Given the description of an element on the screen output the (x, y) to click on. 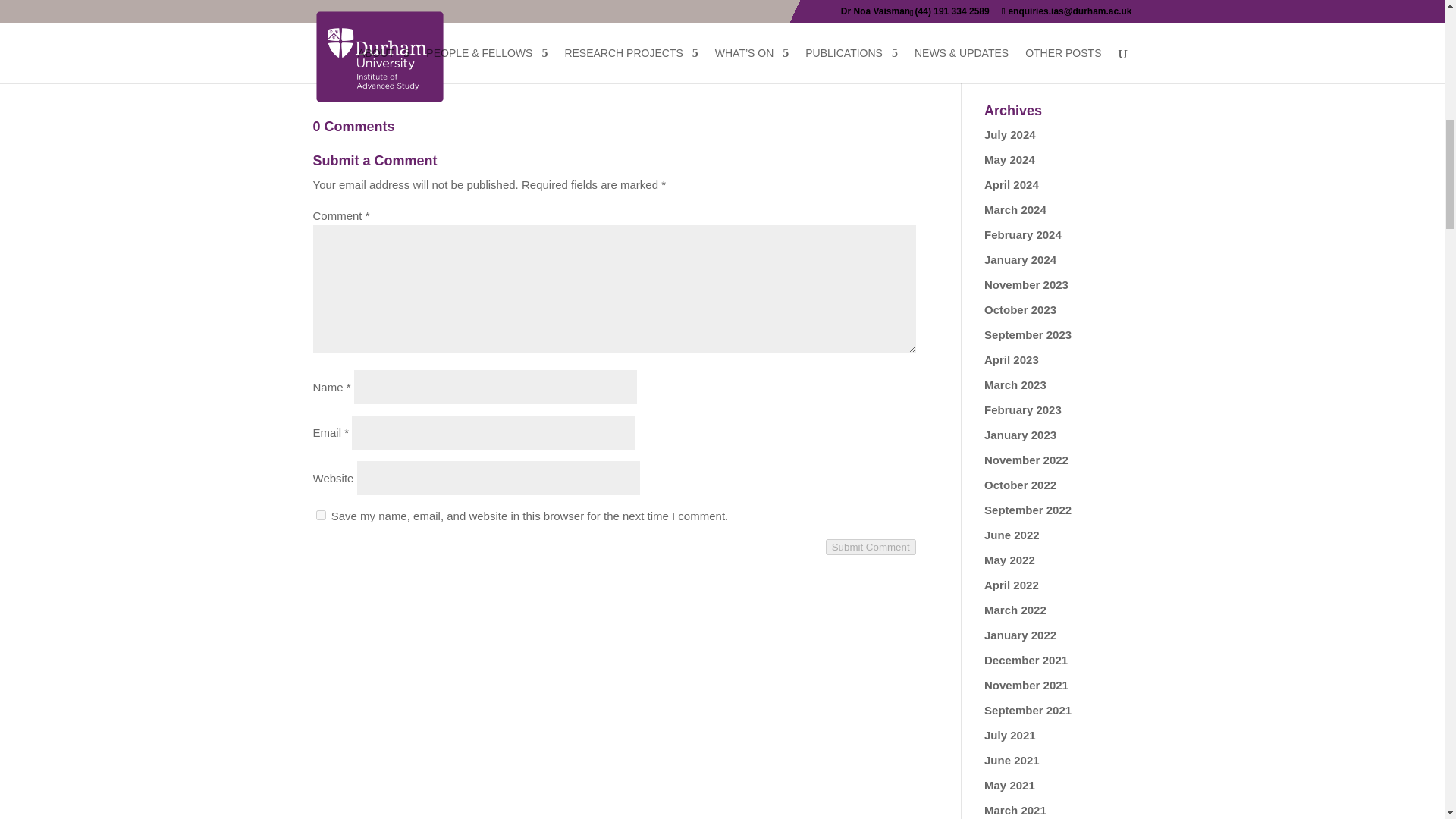
yes (319, 515)
